Given the description of an element on the screen output the (x, y) to click on. 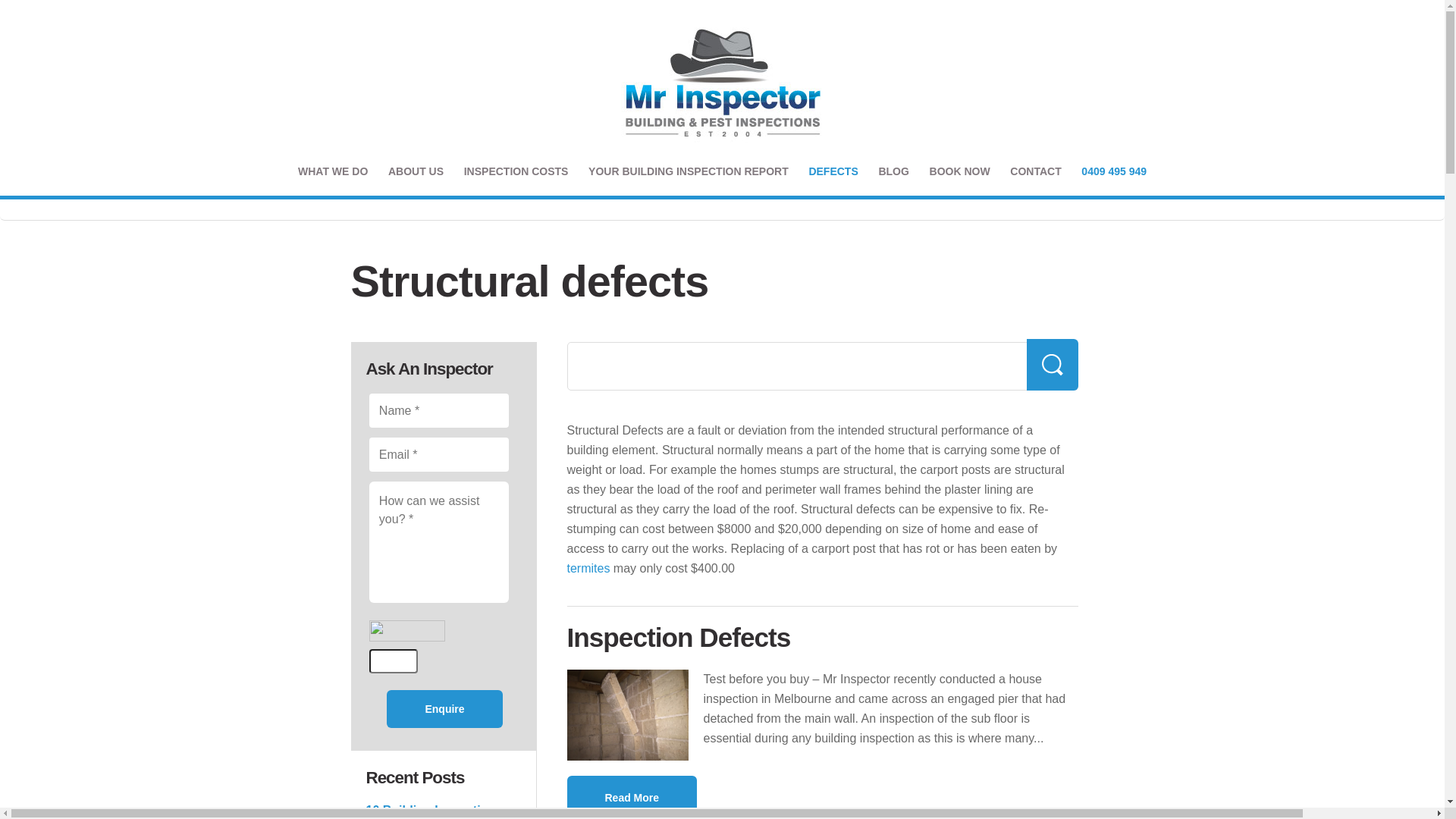
BOOK NOW Element type: text (959, 171)
YOUR BUILDING INSPECTION REPORT Element type: text (688, 171)
ABOUT US Element type: text (416, 171)
INSPECTION COSTS Element type: text (515, 171)
BLOG Element type: text (893, 171)
0409 495 949 Element type: text (1113, 171)
Mr Inspector Element type: hover (721, 81)
Mr Inspector Element type: hover (722, 81)
Search Element type: text (1052, 364)
Enquire Element type: text (444, 708)
CONTACT Element type: text (1035, 171)
DEFECTS Element type: text (833, 171)
WHAT WE DO Element type: text (333, 171)
termites Element type: text (588, 567)
Inspection Defects Element type: text (678, 637)
